Given the description of an element on the screen output the (x, y) to click on. 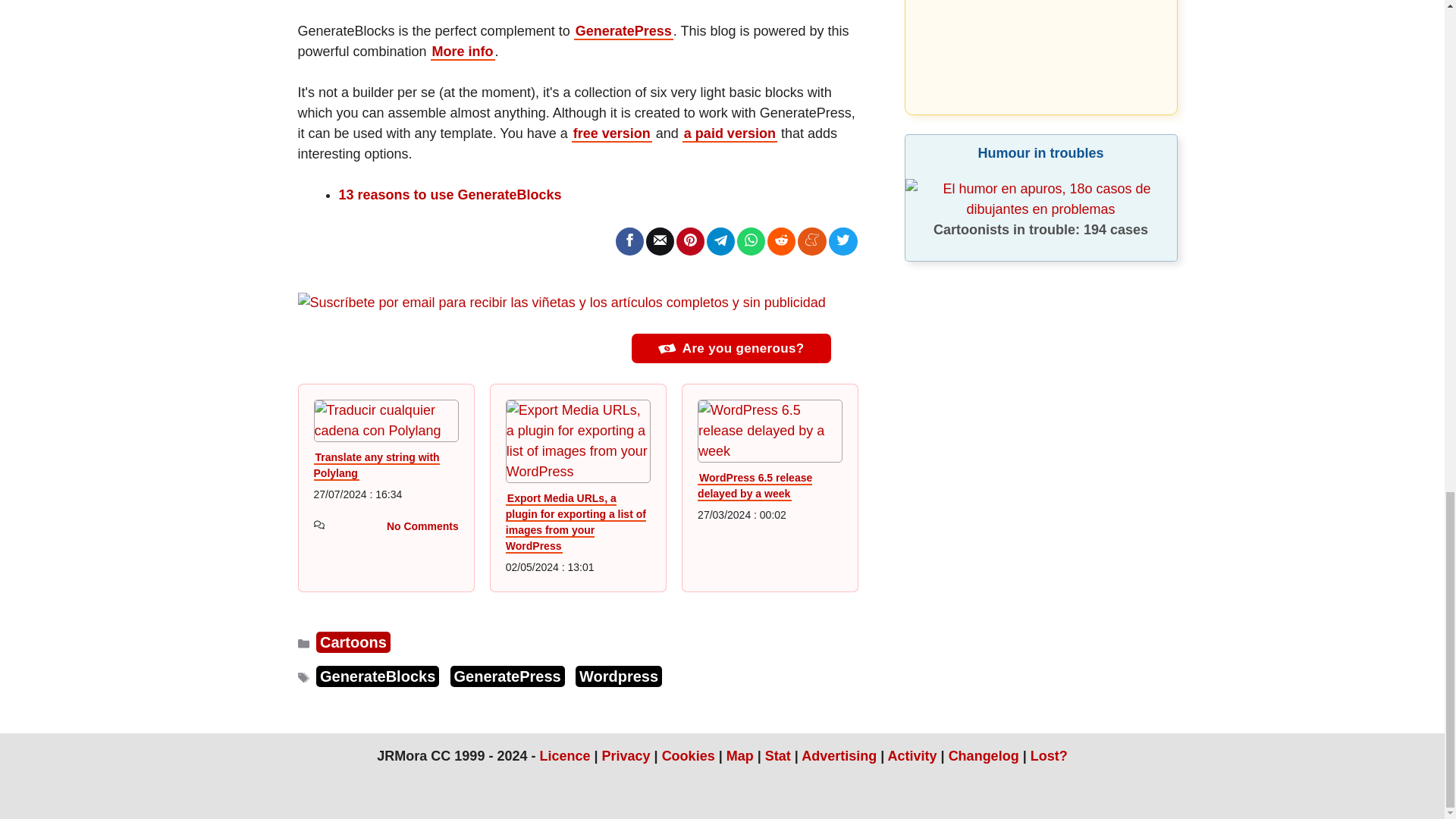
Telegram (720, 239)
Reddit (780, 239)
